Given the description of an element on the screen output the (x, y) to click on. 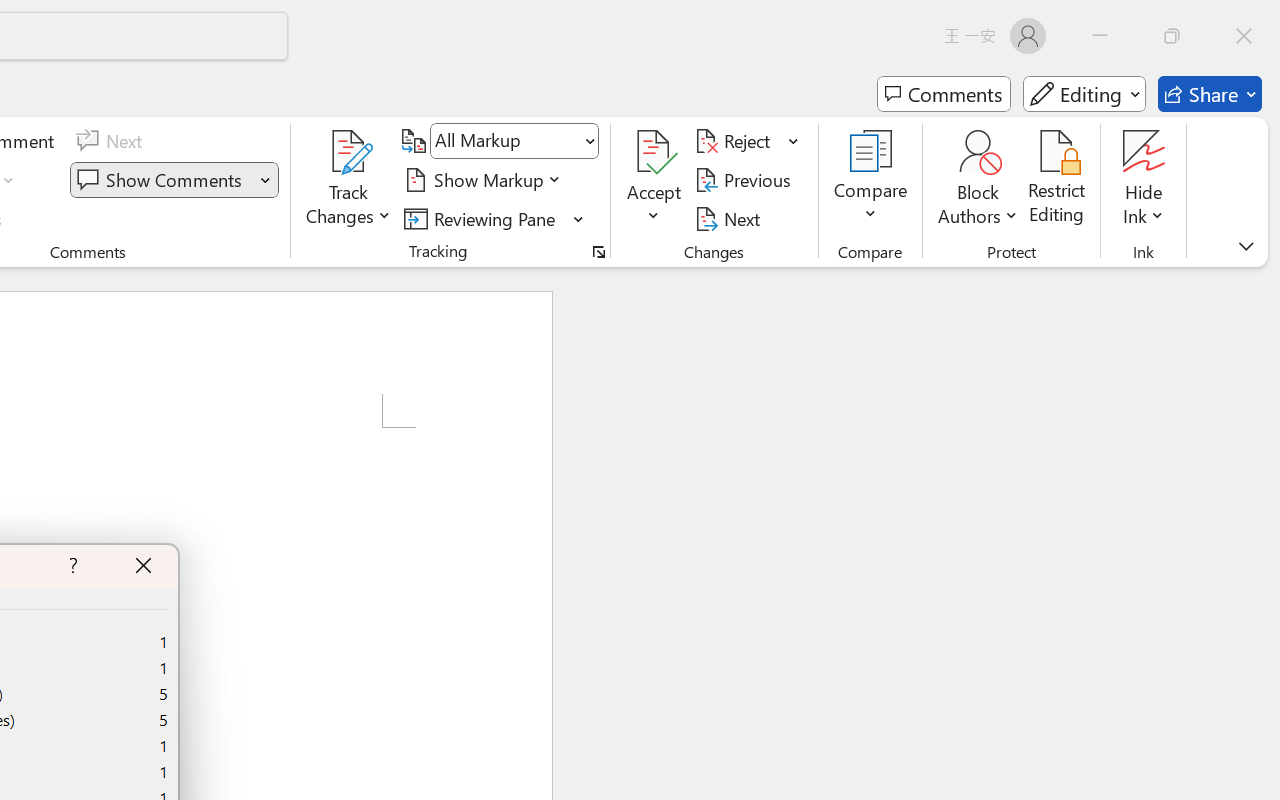
Reviewing Pane (494, 218)
Reject (747, 141)
Next (730, 218)
Reviewing Pane (483, 218)
Track Changes (349, 179)
Reject and Move to Next (735, 141)
Previous (745, 179)
Block Authors (977, 151)
Track Changes (349, 151)
